Given the description of an element on the screen output the (x, y) to click on. 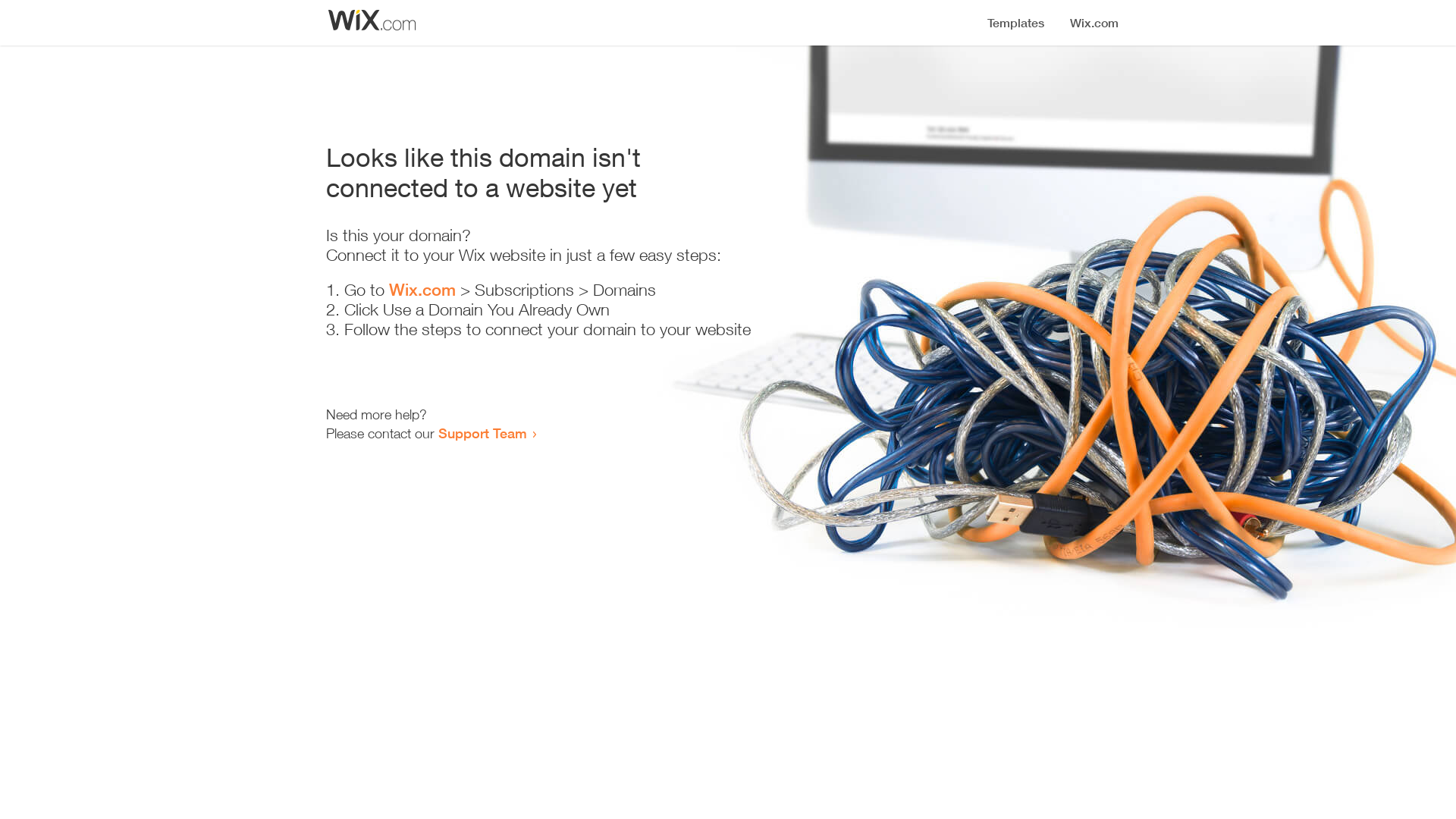
Wix.com Element type: text (422, 289)
Support Team Element type: text (482, 432)
